Given the description of an element on the screen output the (x, y) to click on. 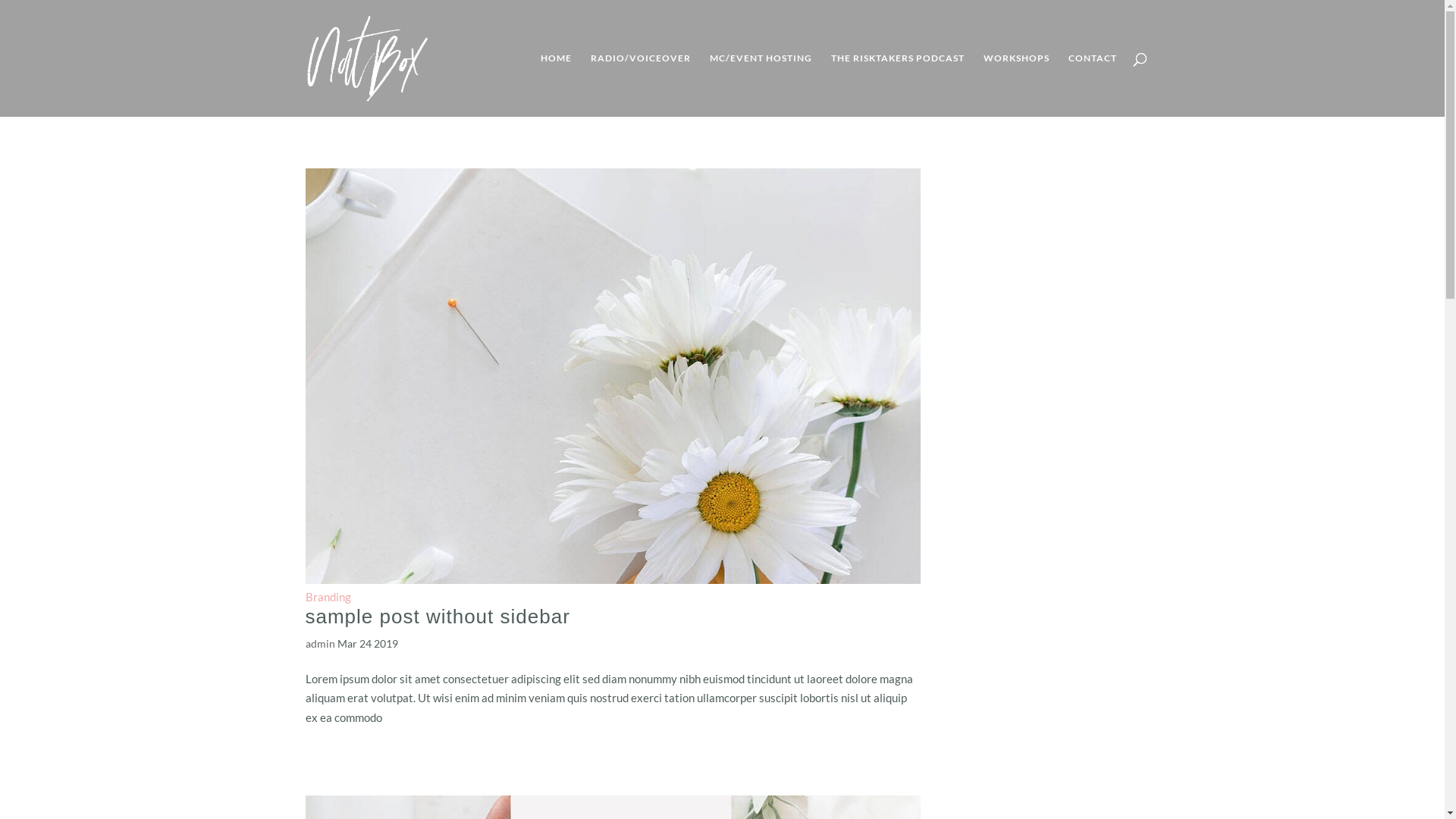
sample post without sidebar Element type: text (436, 616)
HOME Element type: text (555, 84)
Branding Element type: text (327, 596)
admin Element type: text (319, 643)
RADIO/VOICEOVER Element type: text (639, 84)
MC/EVENT HOSTING Element type: text (760, 84)
WORKSHOPS Element type: text (1015, 84)
THE RISKTAKERS PODCAST Element type: text (897, 84)
CONTACT Element type: text (1091, 84)
